Given the description of an element on the screen output the (x, y) to click on. 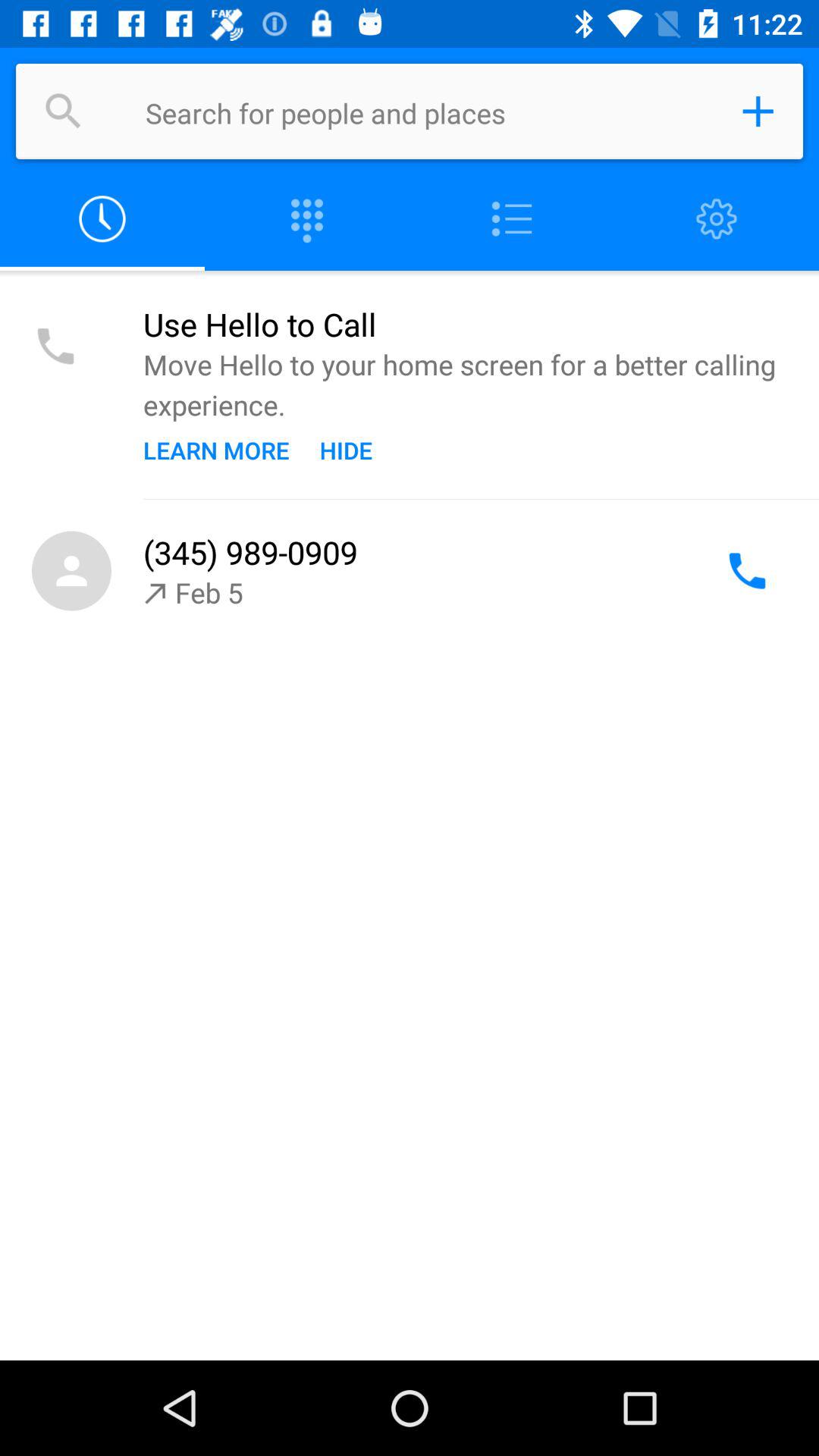
add to people and places (757, 111)
